Given the description of an element on the screen output the (x, y) to click on. 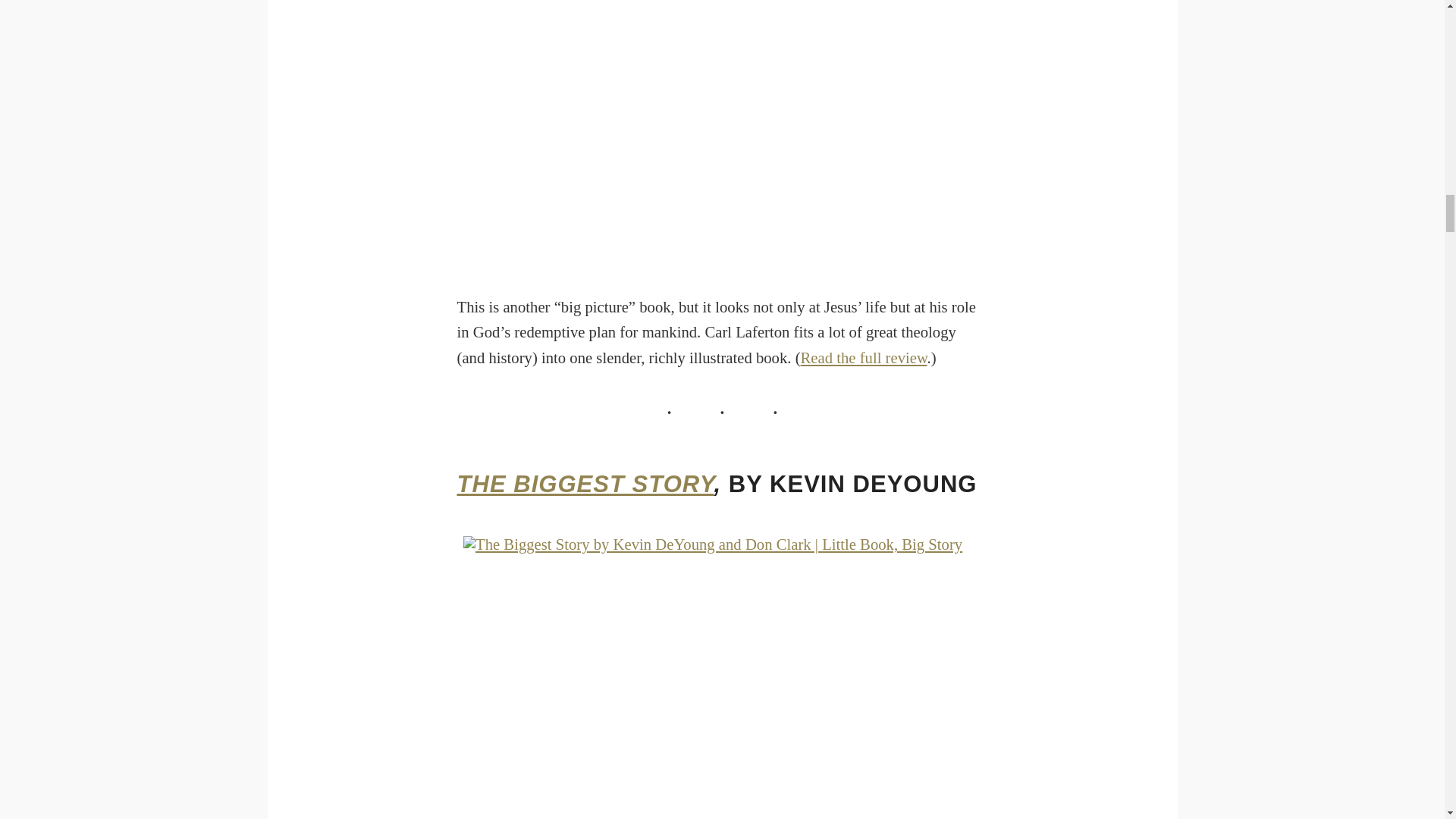
Read the full review (863, 357)
THE BIGGEST STORY (585, 483)
